Given the description of an element on the screen output the (x, y) to click on. 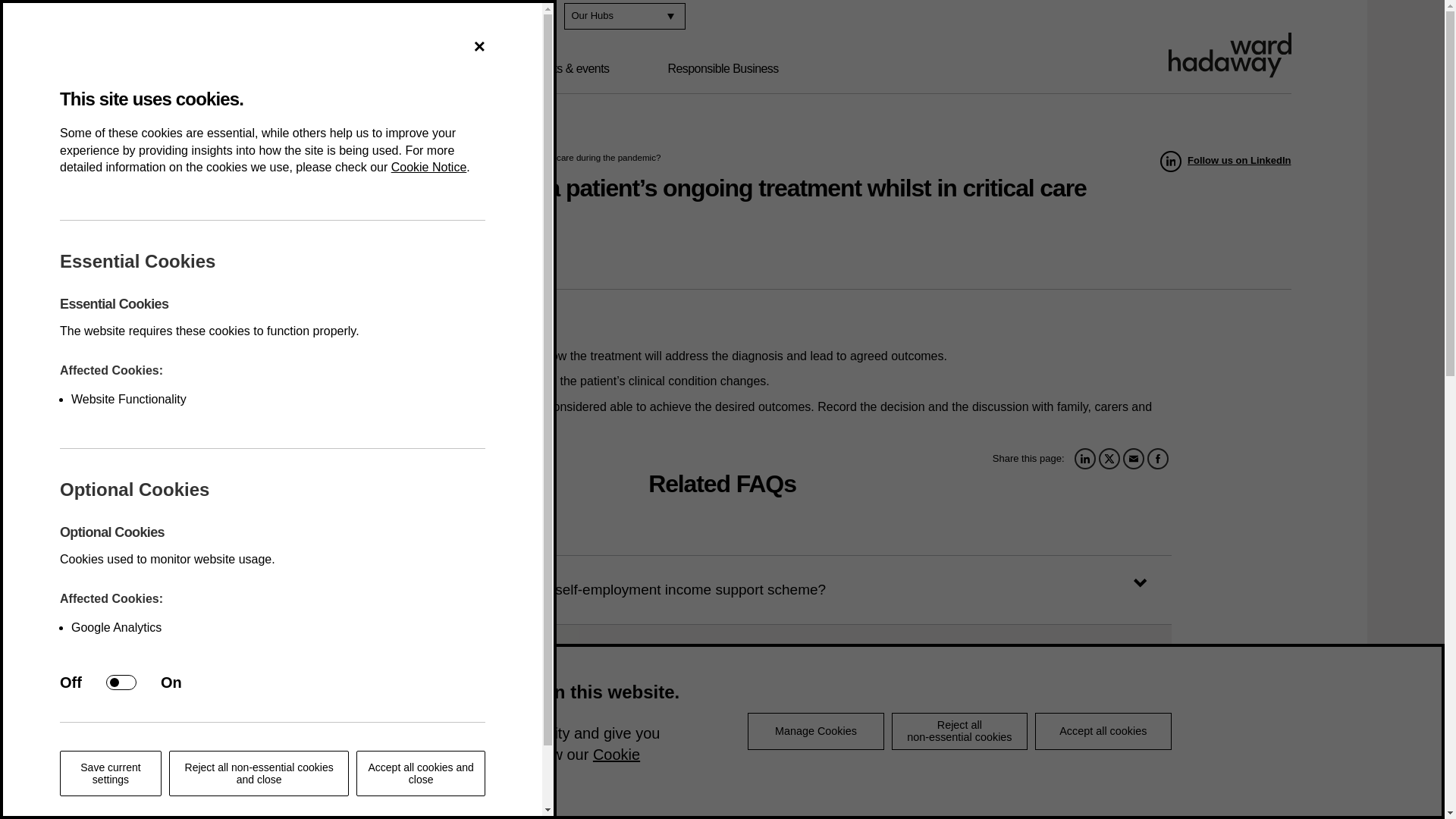
Follow us on LinkedIn (1225, 160)
Follow Ward Hadaway on LinkedIn (1225, 160)
Follow Ward Hadaway on Twitter (505, 16)
Join us (222, 16)
Join us (222, 16)
Follow Ward Hadaway on Vimeo (537, 16)
Get in touch (305, 16)
Who we are (202, 68)
What we do (321, 68)
Connect with Ward Hadaway on LinkedIn (473, 16)
Share this article on twitter (1108, 458)
Get in touch (305, 16)
Home (164, 157)
Accessibility (399, 16)
FAQs (205, 157)
